Given the description of an element on the screen output the (x, y) to click on. 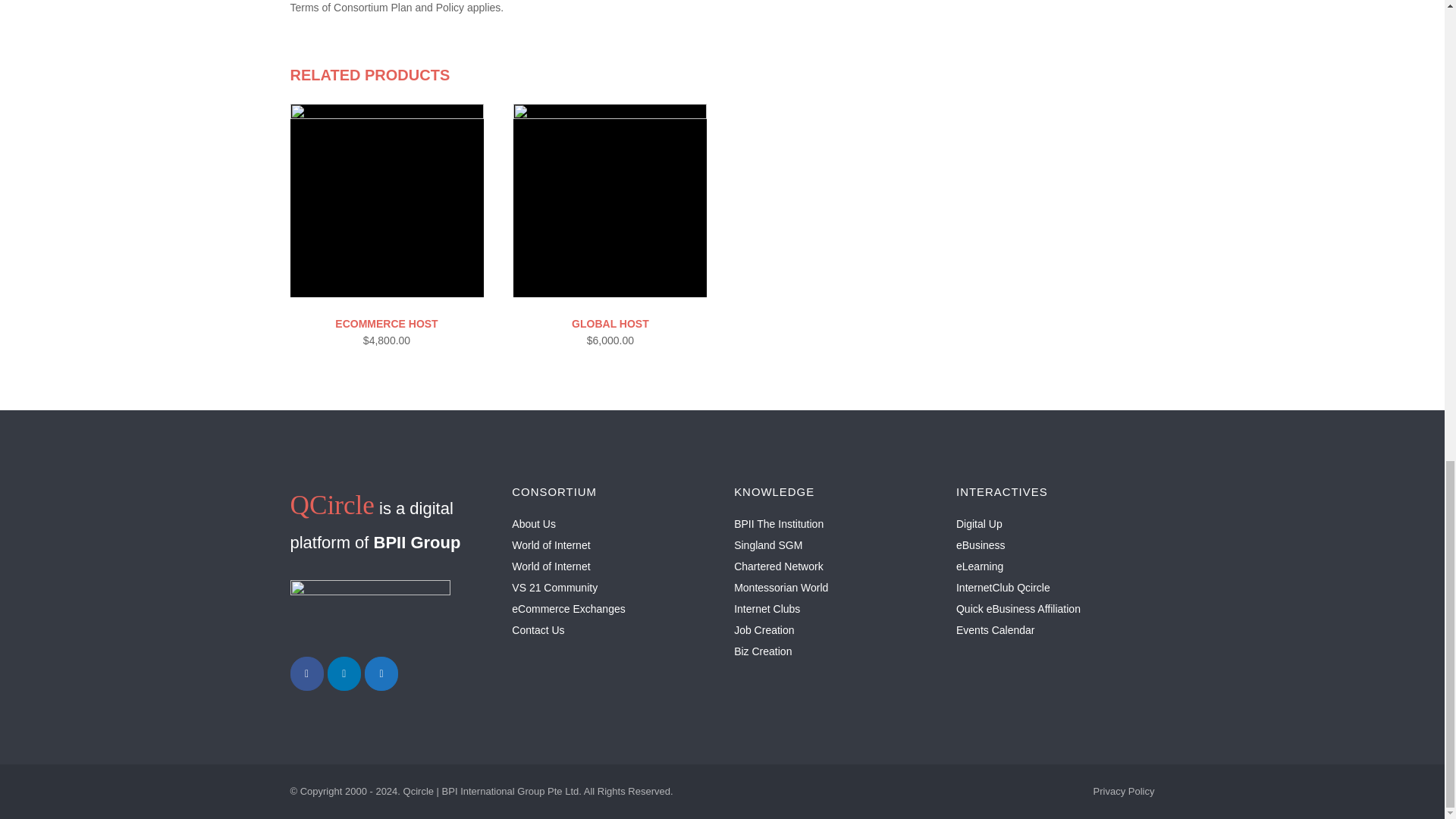
Internet Clubs on Facebook (306, 673)
Internet Clubs on Envelope (381, 673)
Internet Clubs on Linkedin (344, 673)
